Given the description of an element on the screen output the (x, y) to click on. 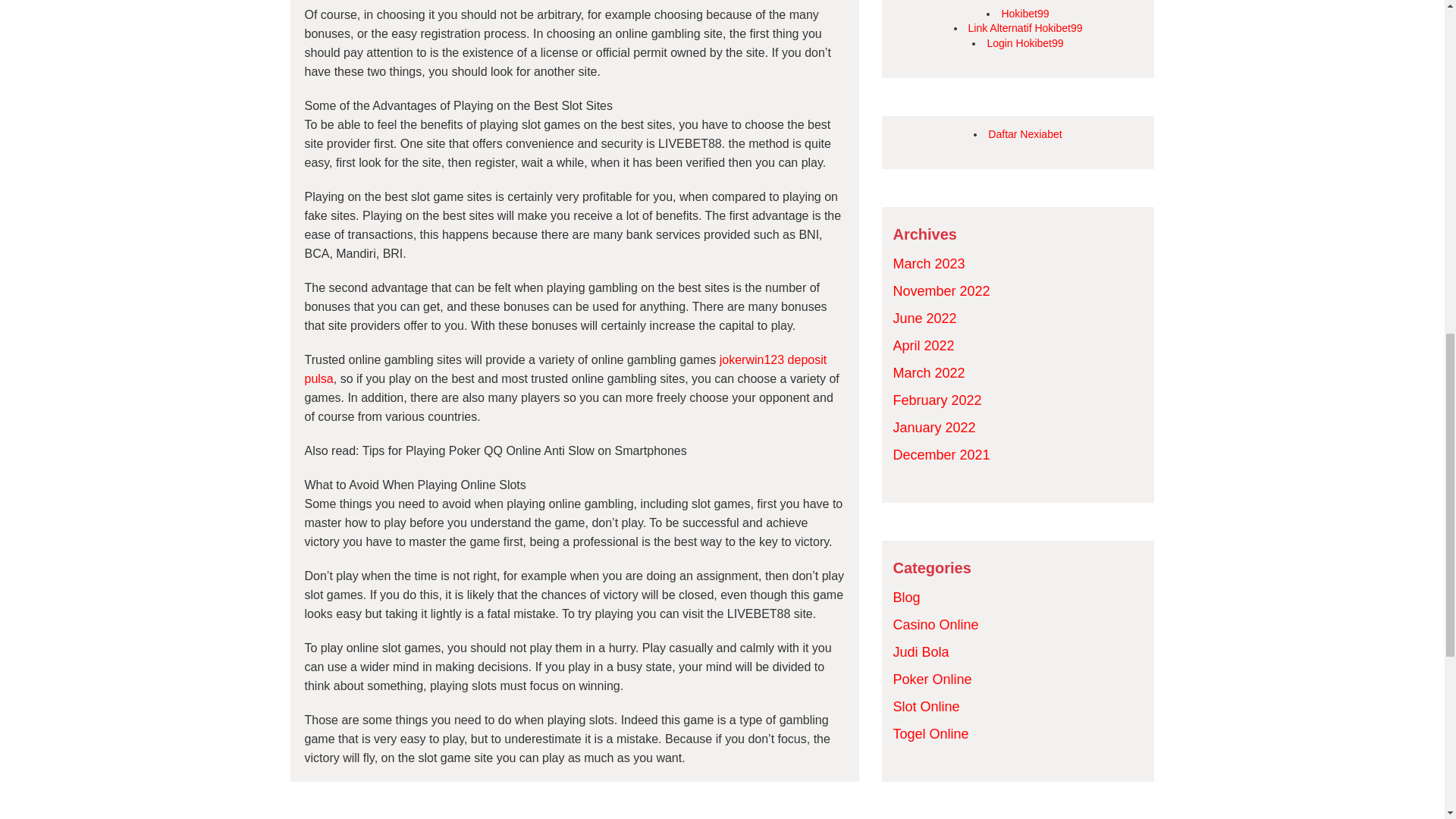
Daftar Nexiabet (1024, 133)
February 2022 (937, 400)
March 2023 (929, 263)
November 2022 (941, 290)
Casino Online (935, 624)
Login Hokibet99 (1024, 42)
March 2022 (929, 372)
January 2022 (934, 427)
April 2022 (924, 345)
December 2021 (941, 454)
Blog (906, 597)
Link Alternatif Hokibet99 (1024, 28)
jokerwin123 deposit pulsa (565, 368)
Hokibet99 (1024, 13)
June 2022 (924, 318)
